Given the description of an element on the screen output the (x, y) to click on. 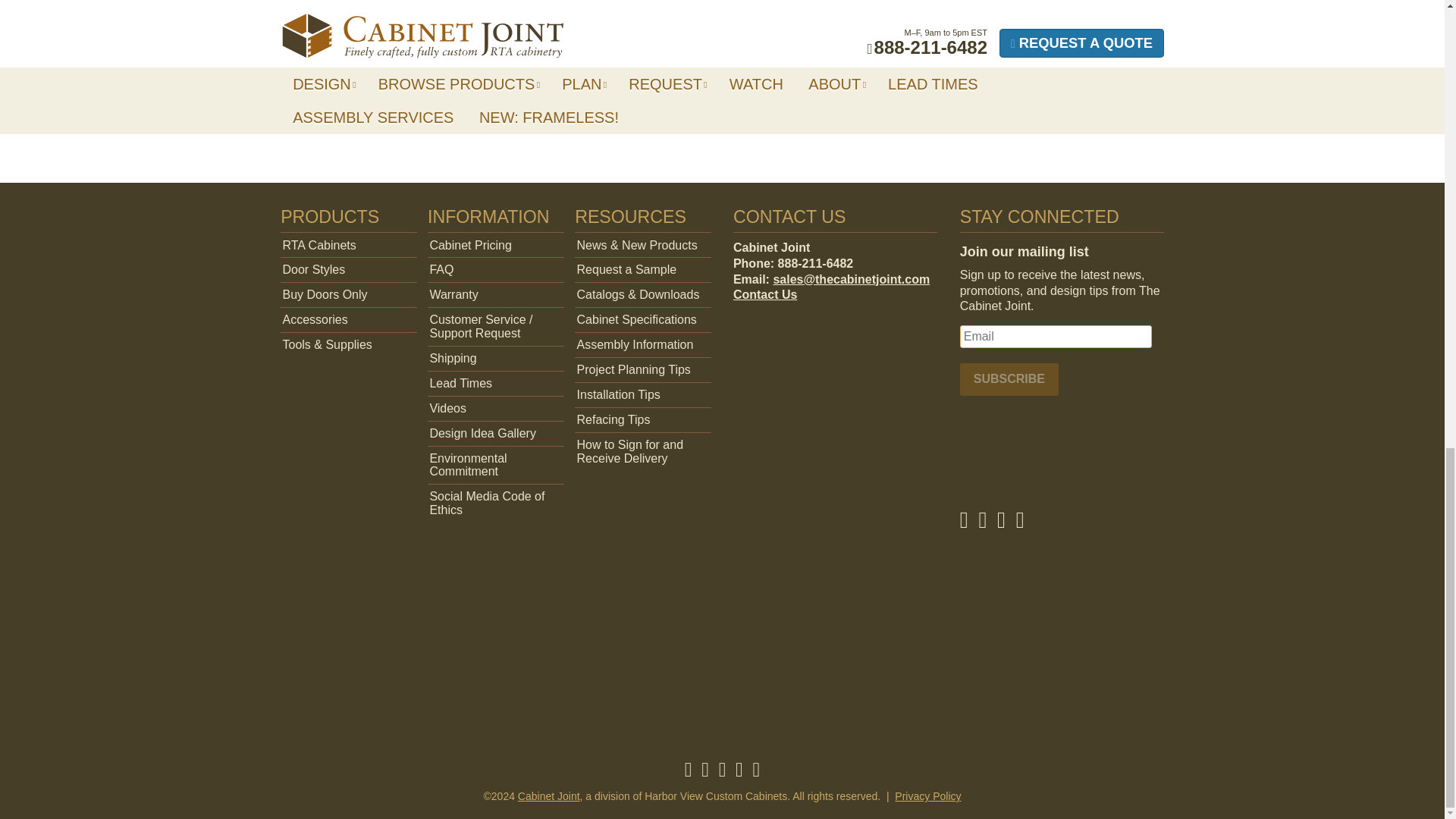
Subscribe (1008, 378)
Cabinet Joint (548, 796)
